Given the description of an element on the screen output the (x, y) to click on. 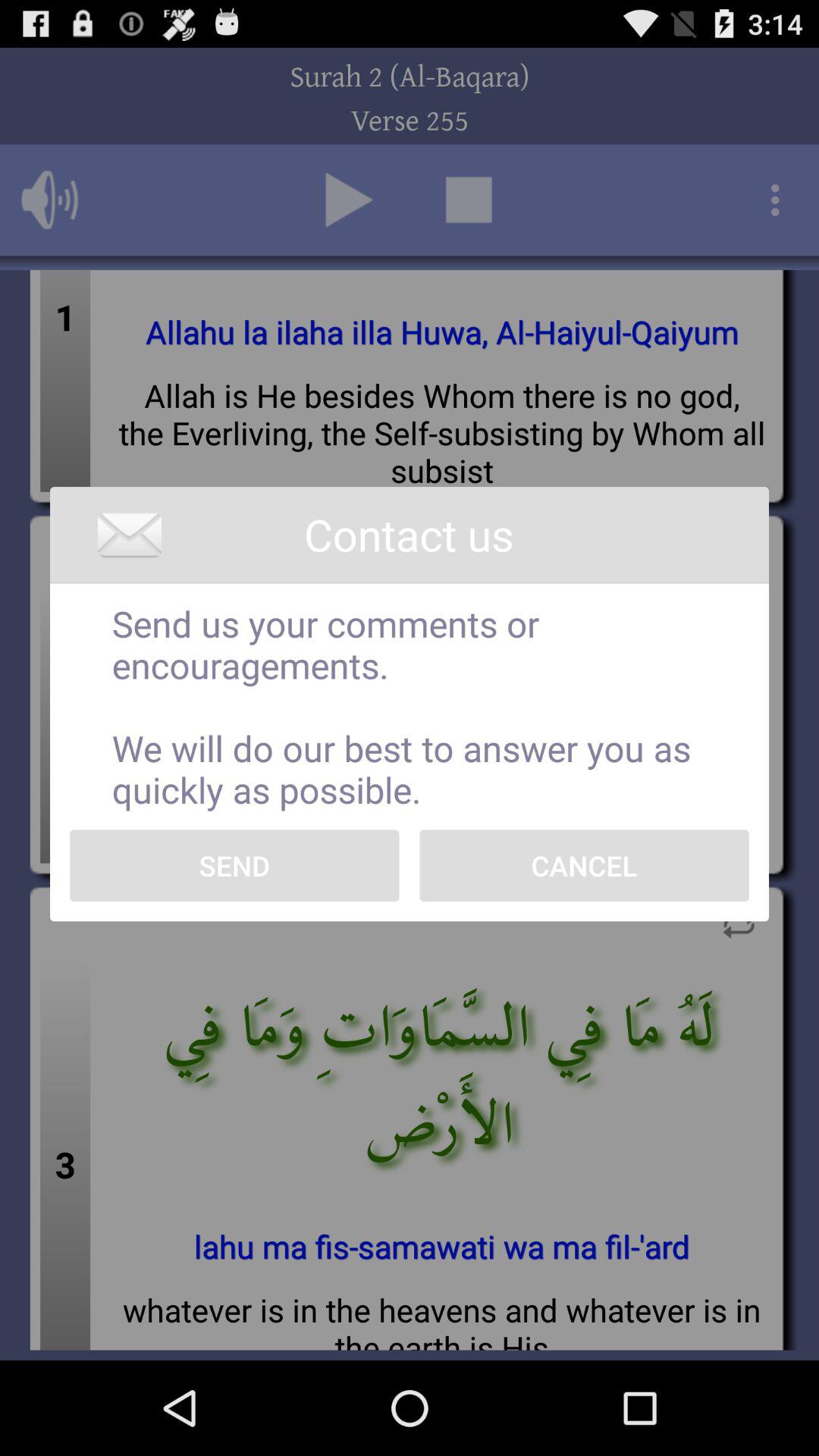
click the icon next to send icon (584, 865)
